Given the description of an element on the screen output the (x, y) to click on. 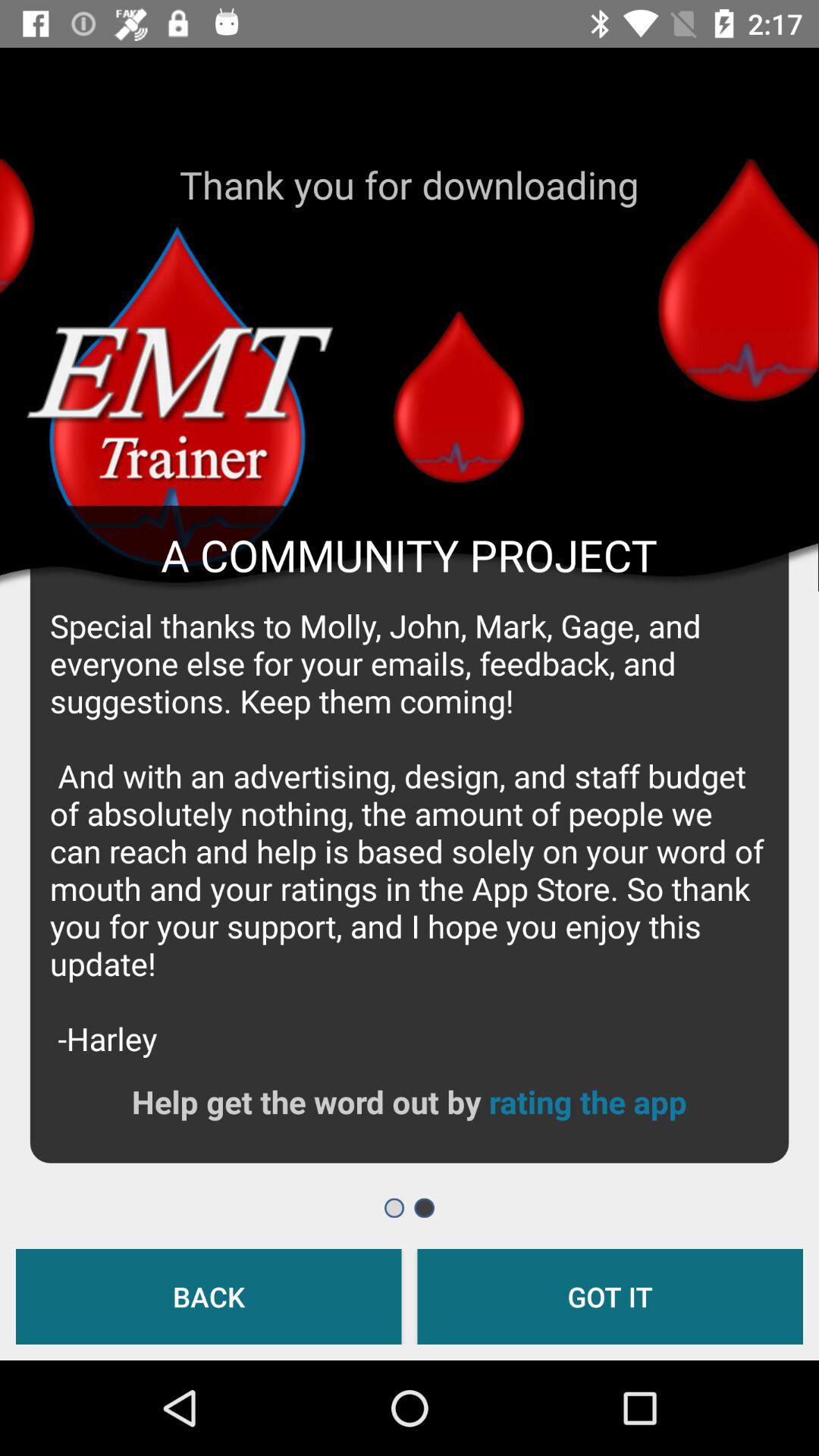
press the icon at the bottom left corner (208, 1296)
